Given the description of an element on the screen output the (x, y) to click on. 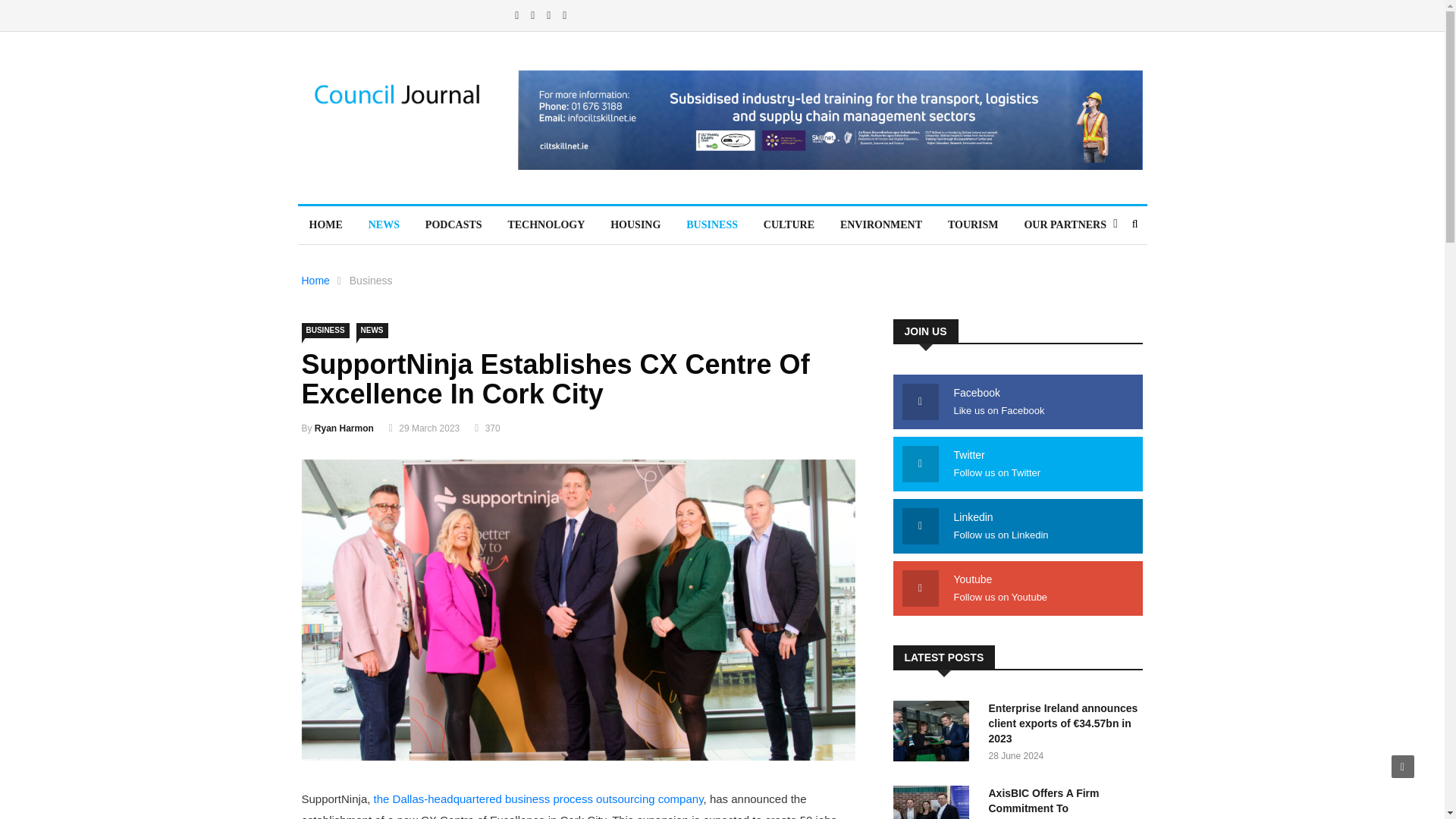
NEWS (372, 330)
Ryan Harmon (344, 428)
CULTURE (788, 225)
Home (315, 280)
OUR PARTNERS (1064, 225)
BUSINESS (712, 225)
BUSINESS (325, 330)
ENVIRONMENT (880, 225)
HOME (325, 225)
PODCASTS (453, 225)
HOUSING (634, 225)
TECHNOLOGY (545, 225)
